Given the description of an element on the screen output the (x, y) to click on. 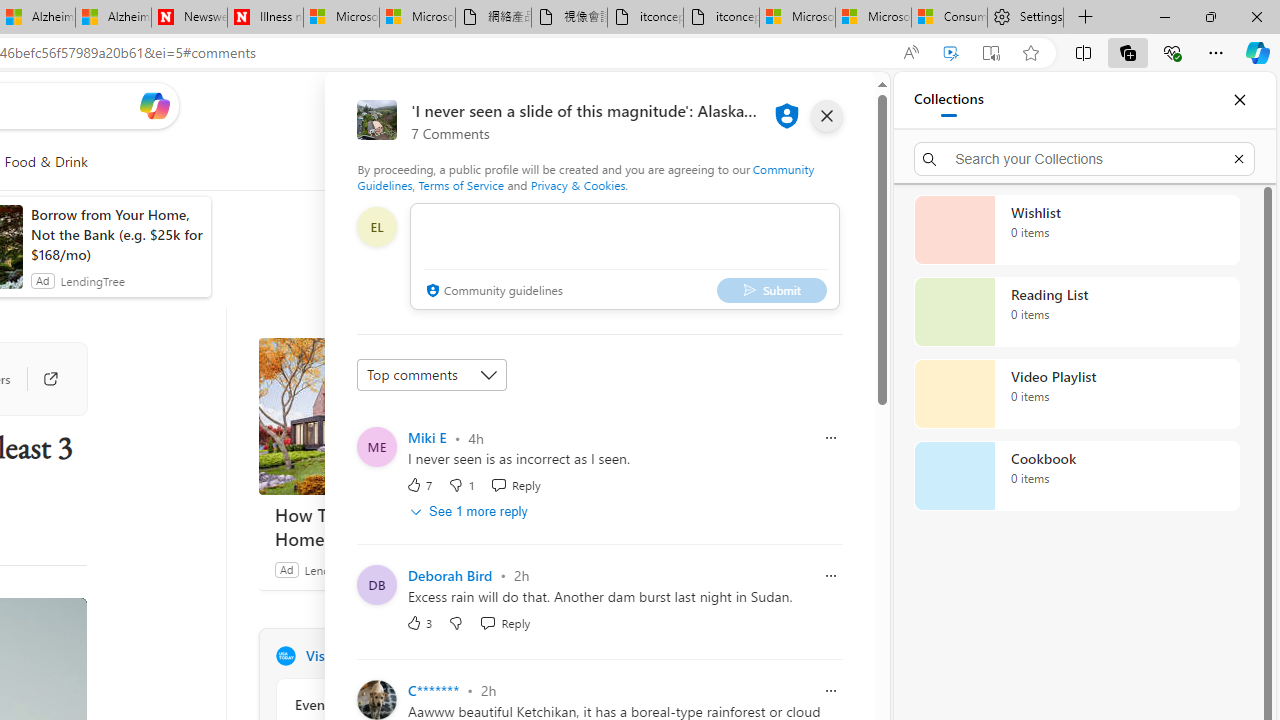
Sort comments by (431, 374)
Submit (771, 290)
USA TODAY (285, 655)
Consumer Health Data Privacy Policy (948, 17)
close (827, 115)
Enhance video (950, 53)
3 Like (419, 622)
Search your Collections (1084, 158)
